Given the description of an element on the screen output the (x, y) to click on. 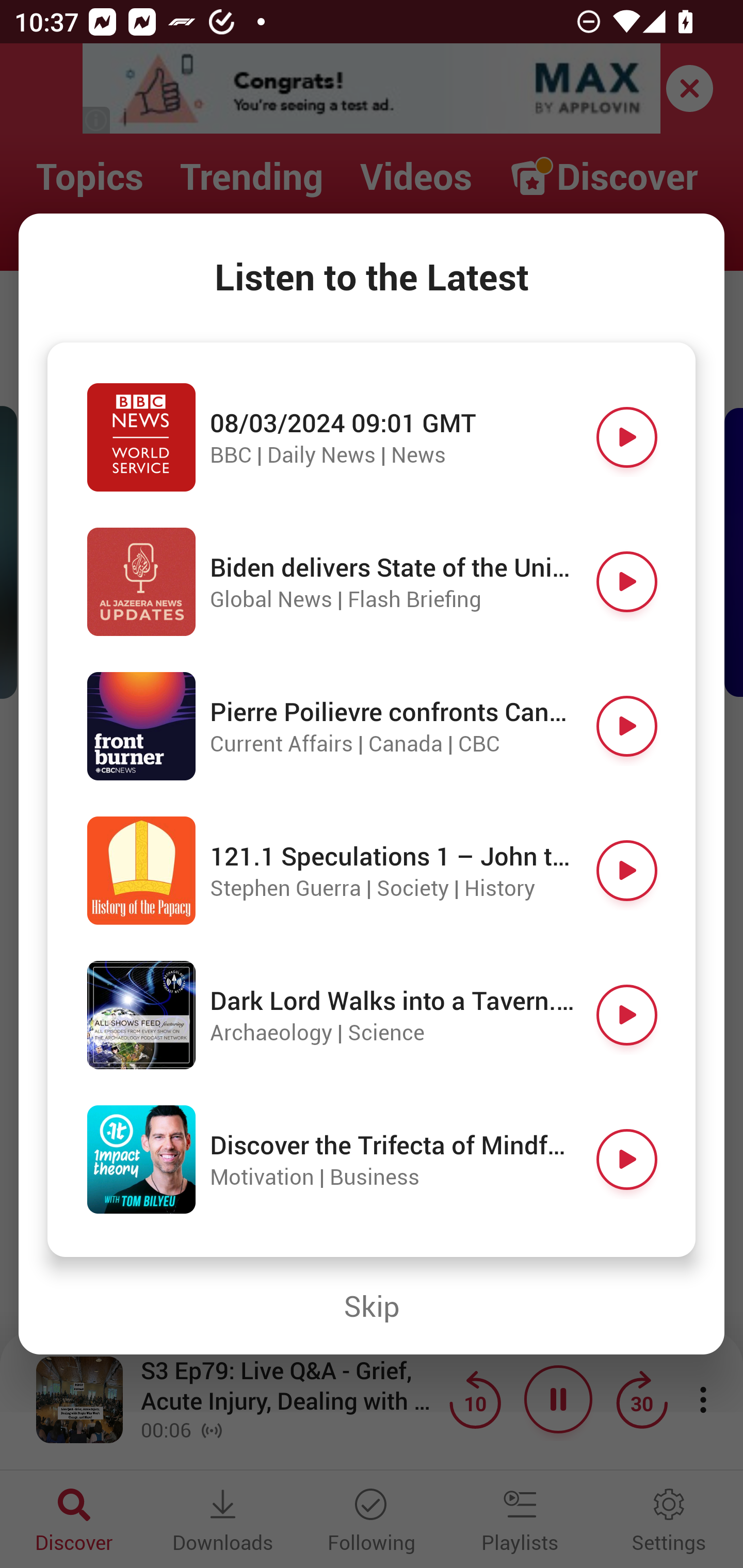
Skip (371, 1305)
